Given the description of an element on the screen output the (x, y) to click on. 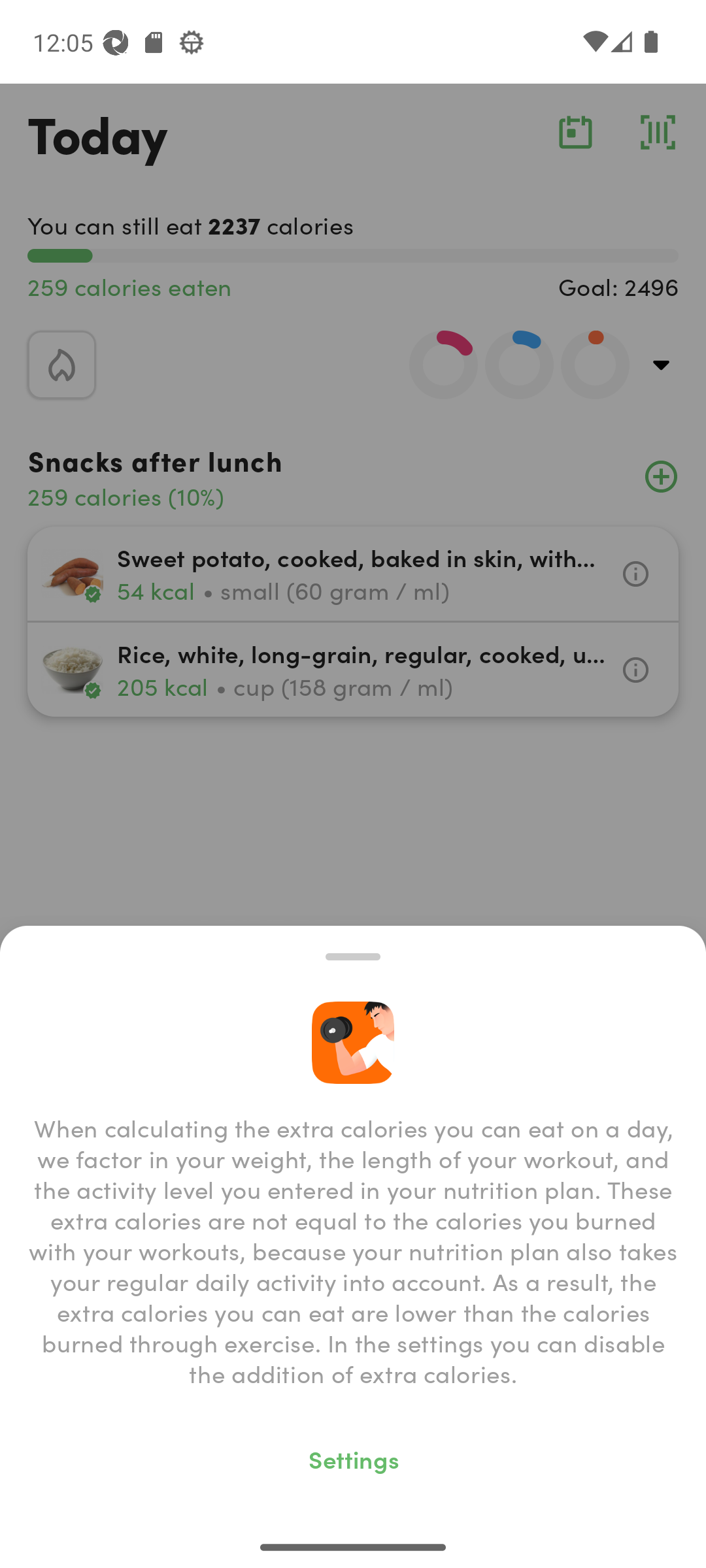
Settings (353, 1458)
